Given the description of an element on the screen output the (x, y) to click on. 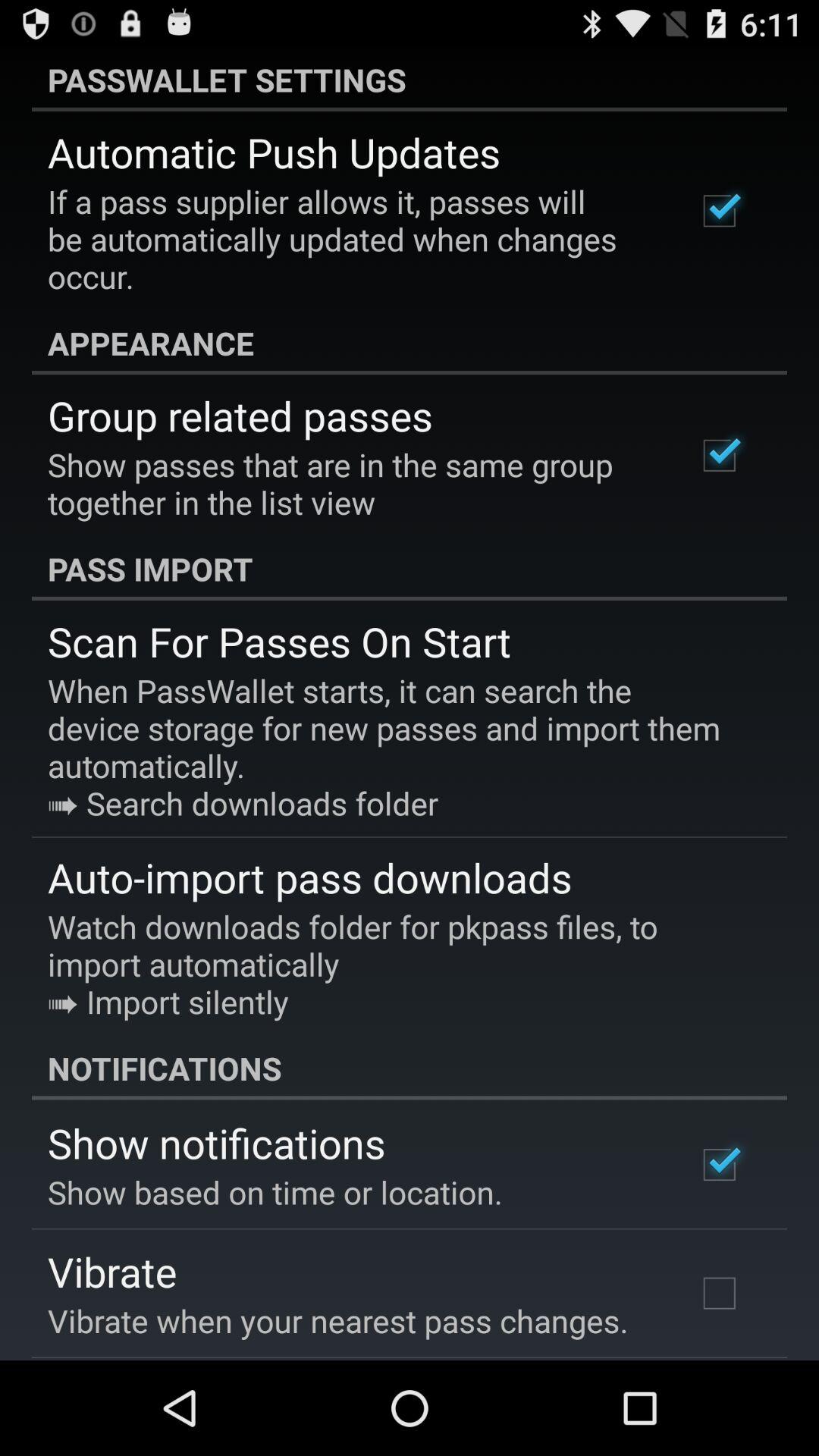
flip until show notifications (216, 1142)
